Given the description of an element on the screen output the (x, y) to click on. 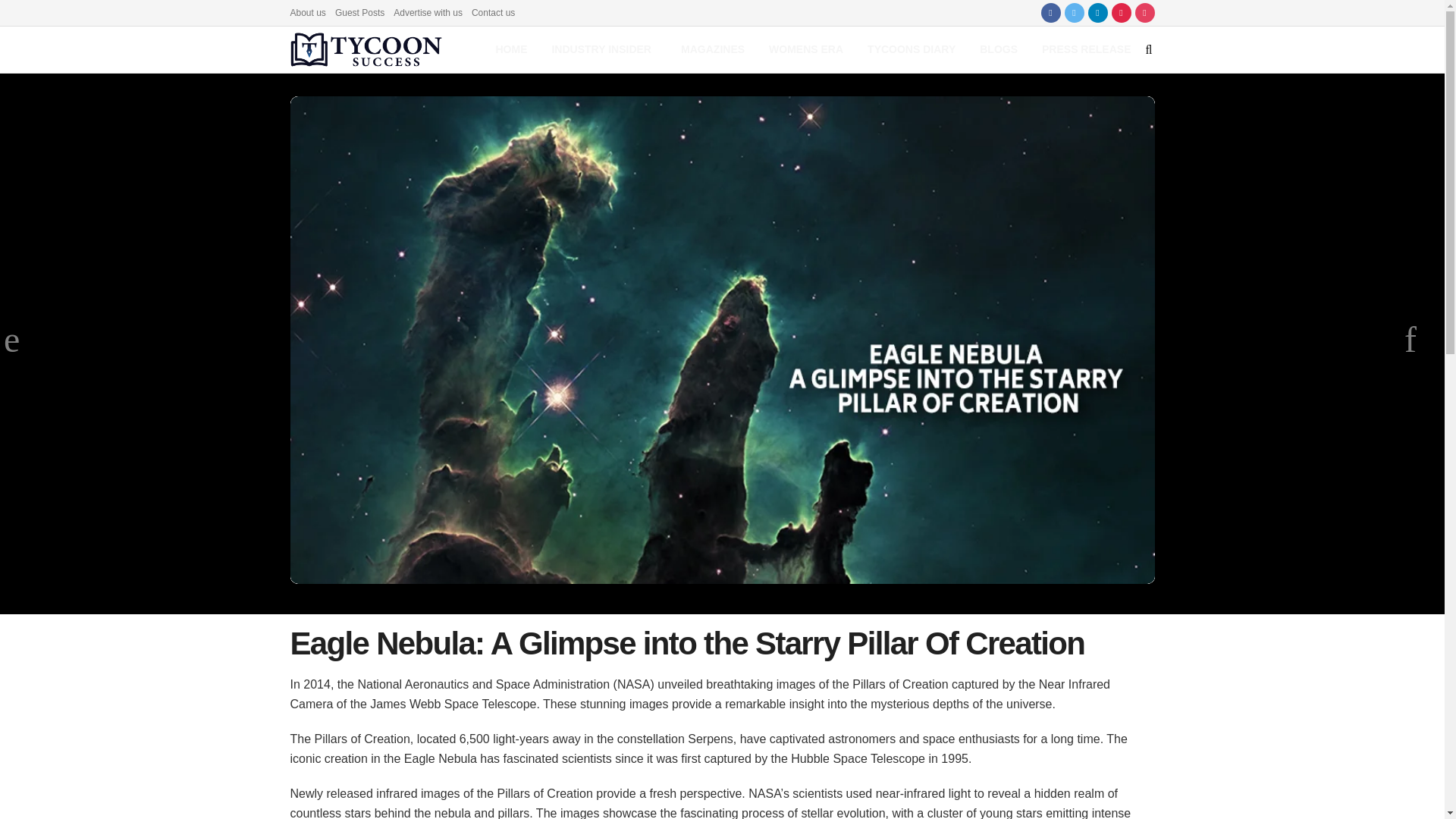
WOMENS ERA (806, 49)
MAGAZINES (712, 49)
Guest Posts (359, 12)
TYCOONS DIARY (912, 49)
BLOGS (998, 49)
PRESS RELEASE (1085, 49)
INDUSTRY INSIDER (603, 49)
About us (306, 12)
Contact us (493, 12)
Advertise with us (428, 12)
